Given the description of an element on the screen output the (x, y) to click on. 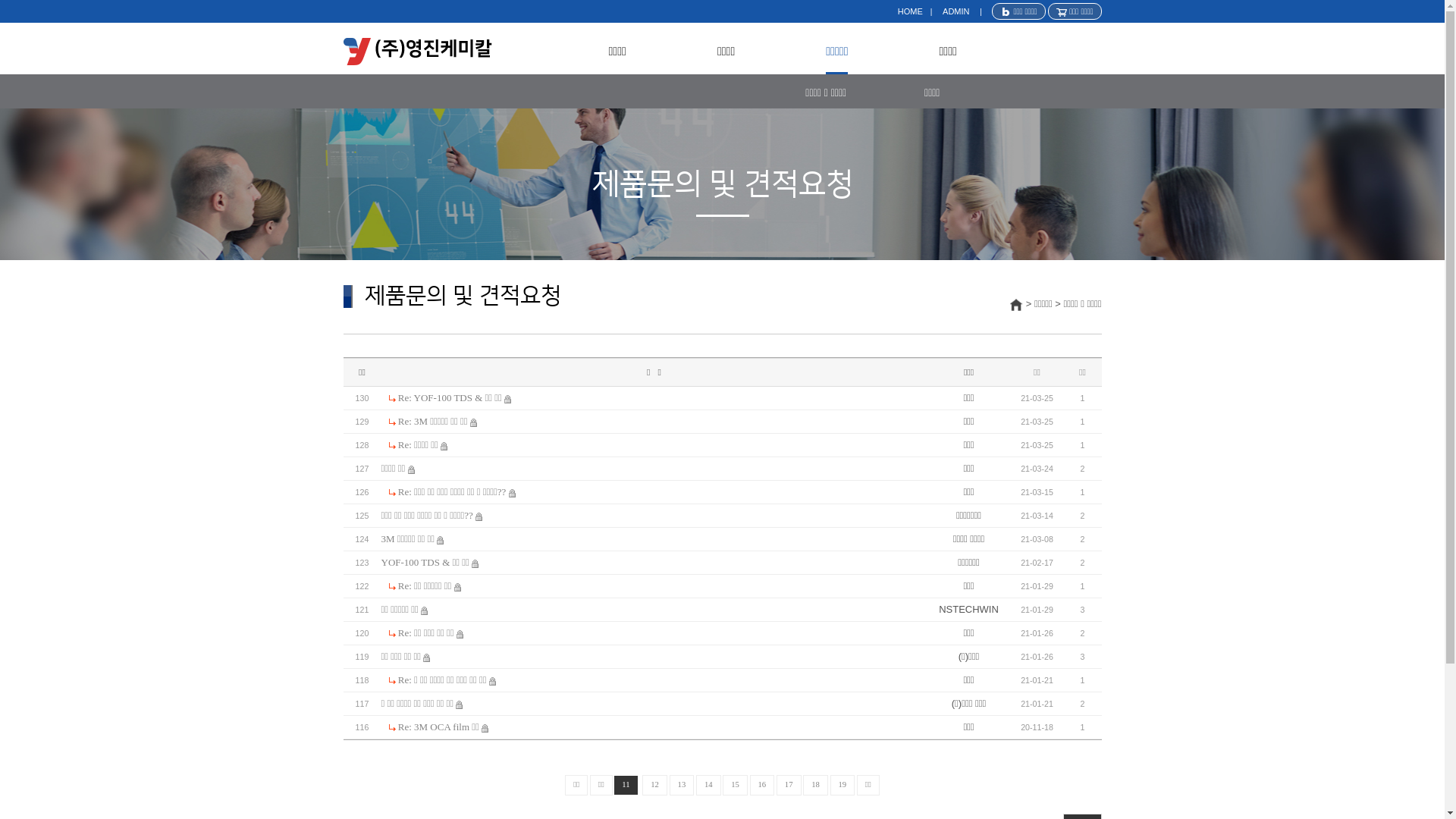
18 Element type: text (815, 785)
17 Element type: text (788, 785)
19 Element type: text (842, 785)
15 Element type: text (734, 785)
14 Element type: text (708, 785)
16 Element type: text (762, 785)
HOME Element type: text (909, 11)
12 Element type: text (654, 785)
ADMIN Element type: text (955, 11)
13 Element type: text (681, 785)
